Given the description of an element on the screen output the (x, y) to click on. 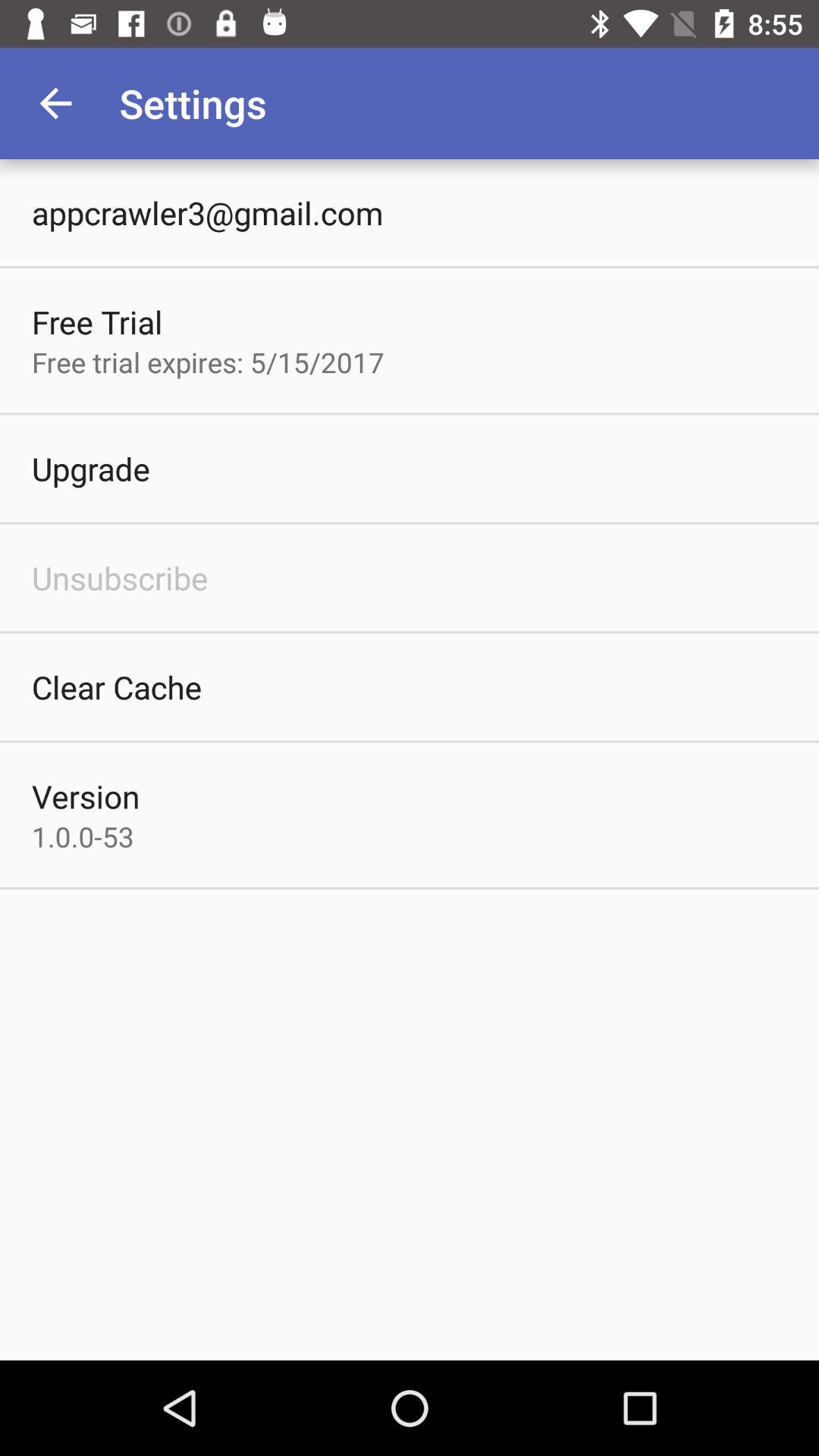
scroll to version icon (85, 795)
